Given the description of an element on the screen output the (x, y) to click on. 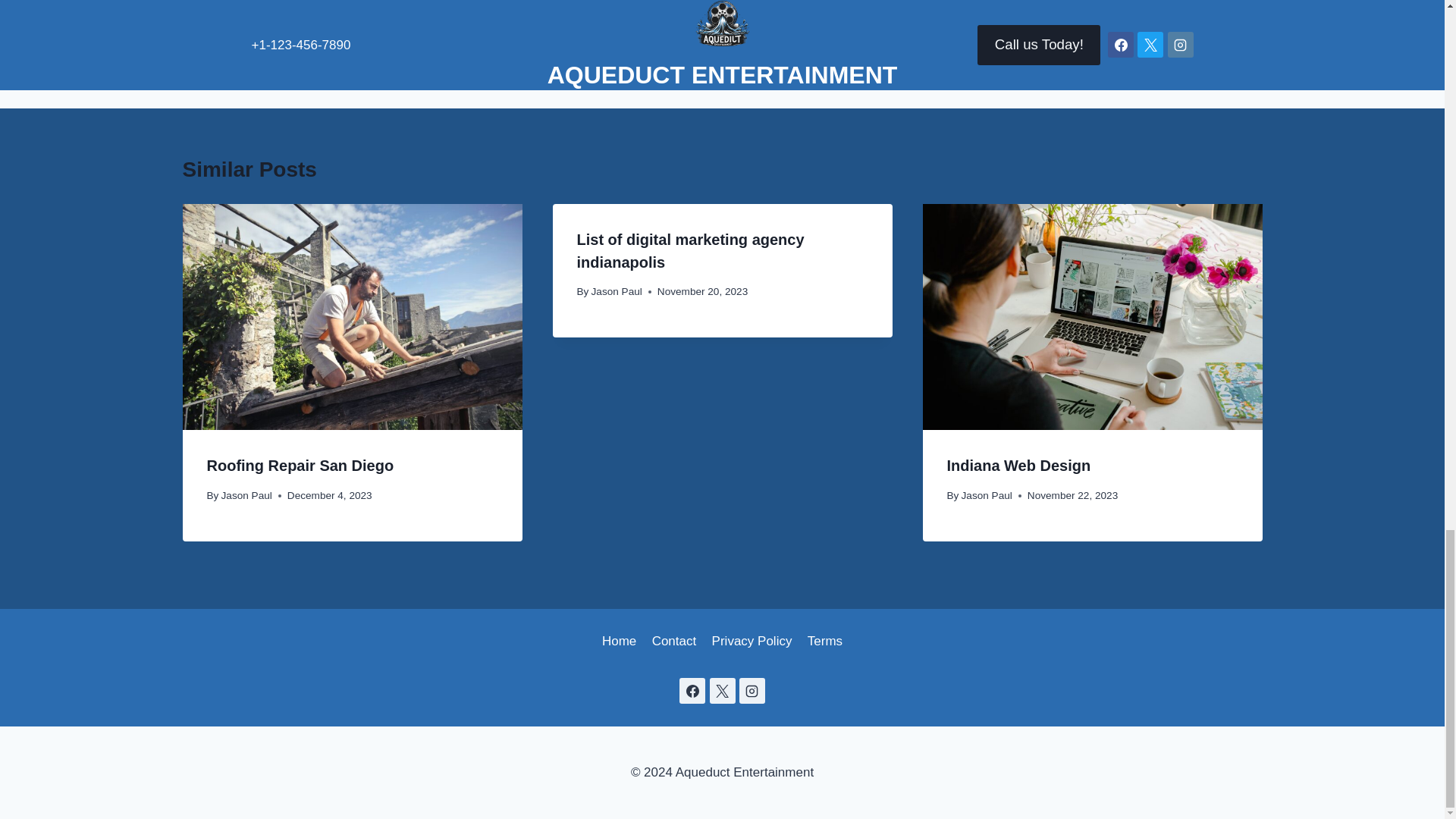
Contact (673, 641)
Jason Paul (985, 495)
Jason Paul (616, 291)
Jason Paul (246, 495)
Home (957, 52)
Terms (619, 641)
Roofing Repair San Diego (824, 641)
Indiana Web Design (299, 465)
List of digital marketing agency indianapolis (1018, 465)
